Given the description of an element on the screen output the (x, y) to click on. 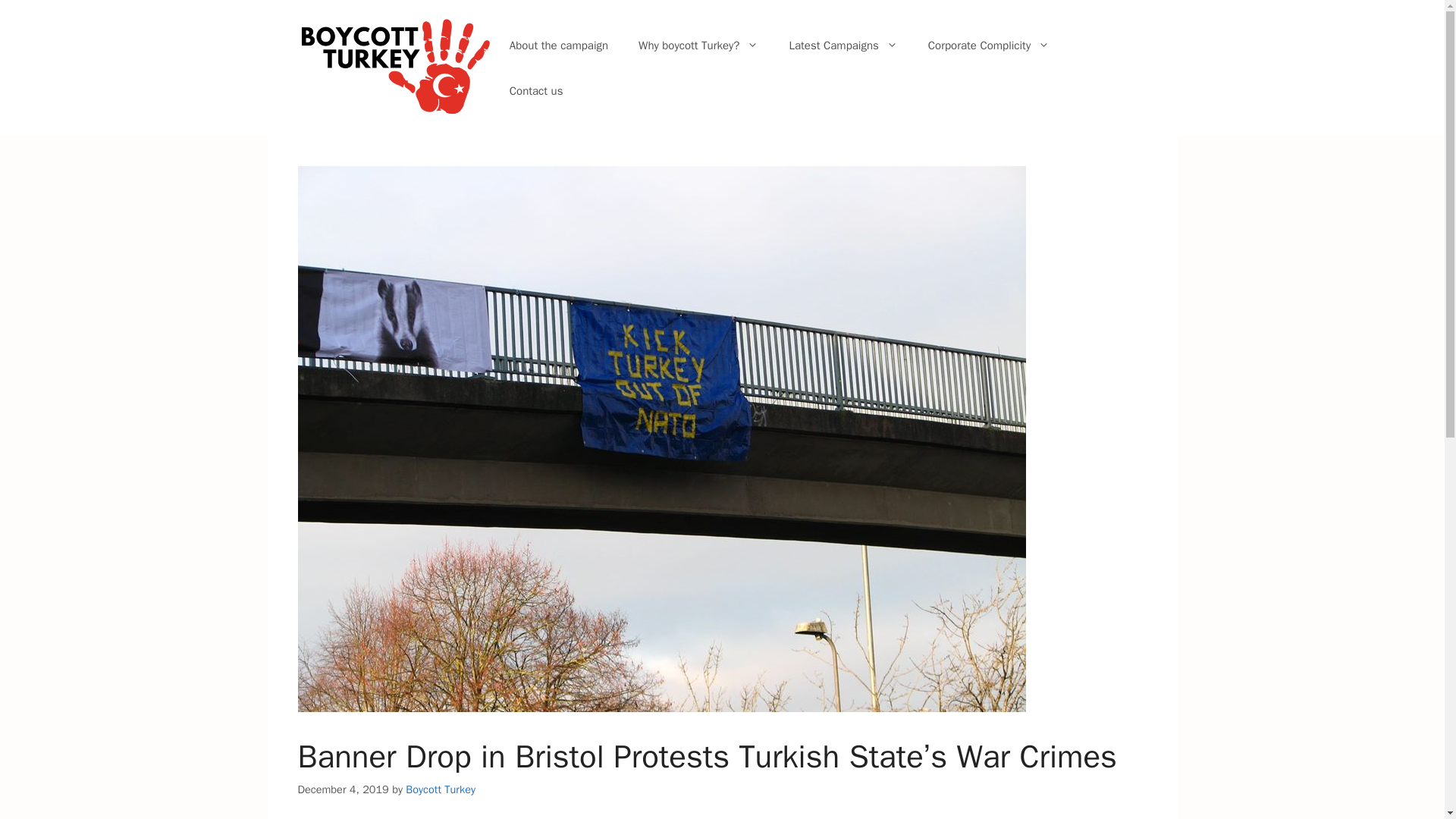
About the campaign (559, 44)
View all posts by Boycott Turkey (441, 789)
Why boycott Turkey? (698, 44)
Latest Campaigns (842, 44)
Corporate Complicity (988, 44)
